Given the description of an element on the screen output the (x, y) to click on. 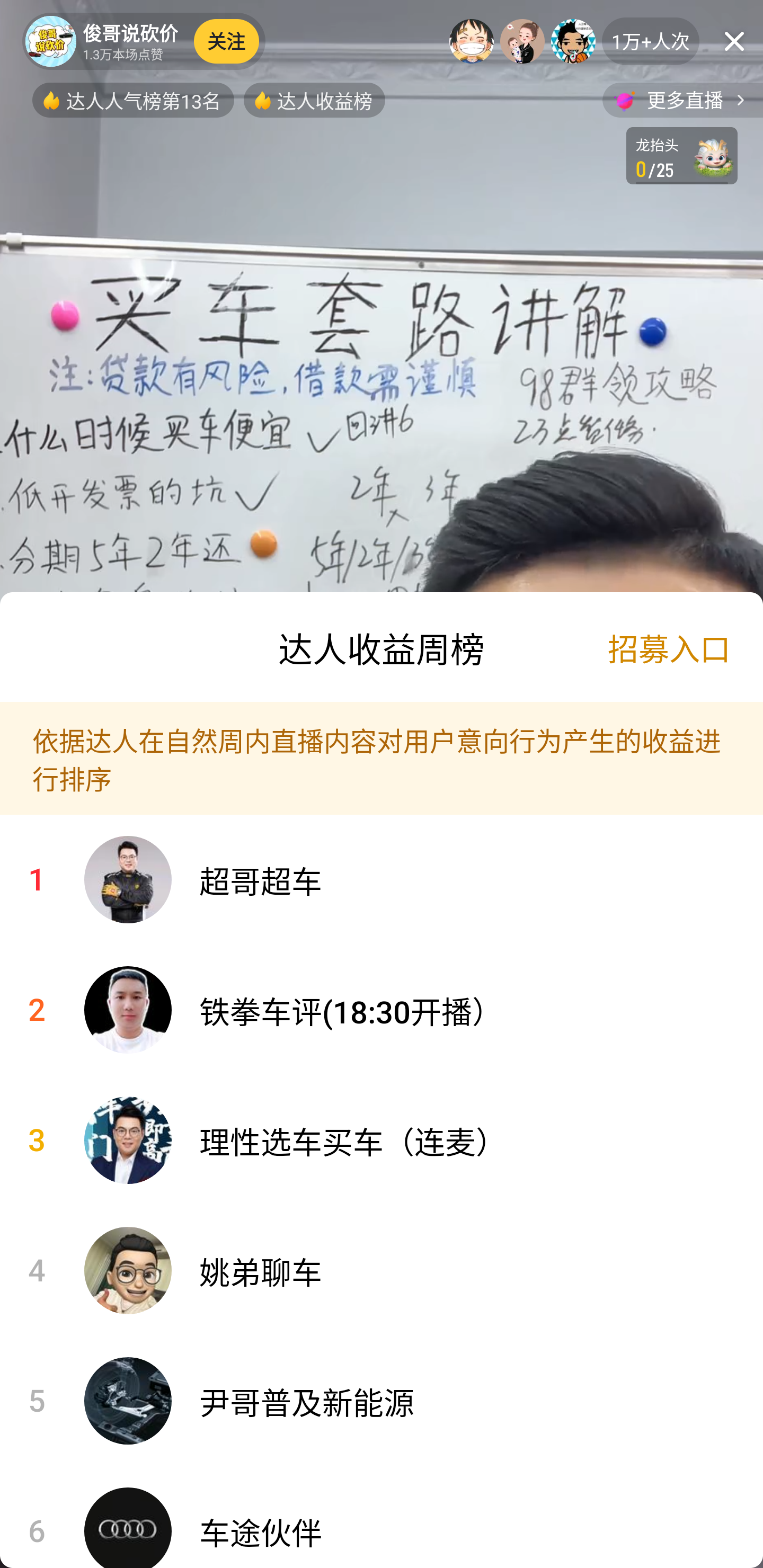
招募入口 (669, 647)
1 超哥超车 (381, 880)
2 铁拳车评(18:30开播） (381, 1010)
3 理性选车买车（连麦） (381, 1140)
4 姚弟聊车 (381, 1270)
5 尹哥普及新能源 (381, 1400)
6 车途伙伴 (381, 1517)
